Given the description of an element on the screen output the (x, y) to click on. 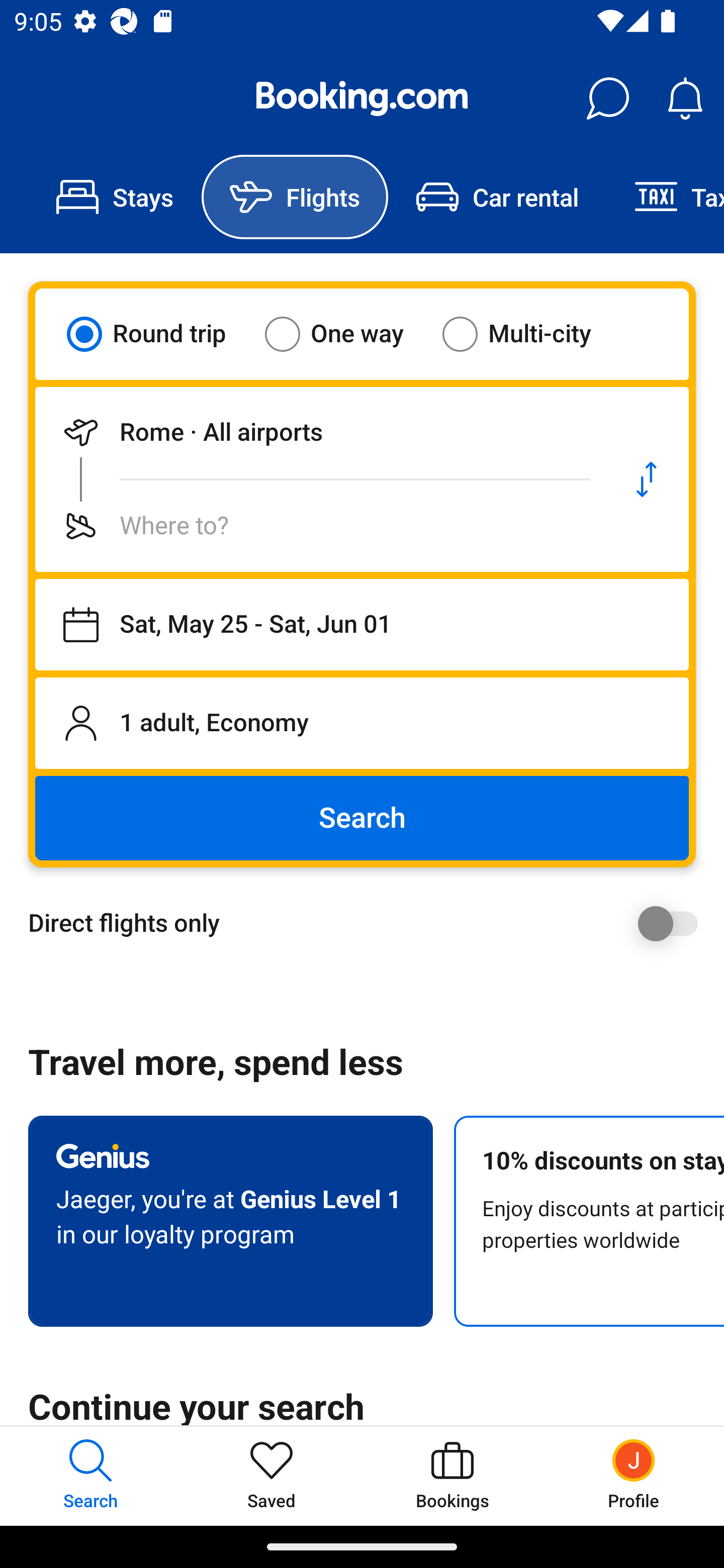
Messages (607, 98)
Notifications (685, 98)
Stays (114, 197)
Flights (294, 197)
Car rental (497, 197)
Taxi (665, 197)
One way (346, 333)
Multi-city (528, 333)
Departing from Rome · All airports (319, 432)
Swap departure location and destination (646, 479)
Flying to  (319, 525)
Departing on Sat, May 25, returning on Sat, Jun 01 (361, 624)
1 adult, Economy (361, 722)
Search (361, 818)
Direct flights only (369, 923)
Saved (271, 1475)
Bookings (452, 1475)
Profile (633, 1475)
